Given the description of an element on the screen output the (x, y) to click on. 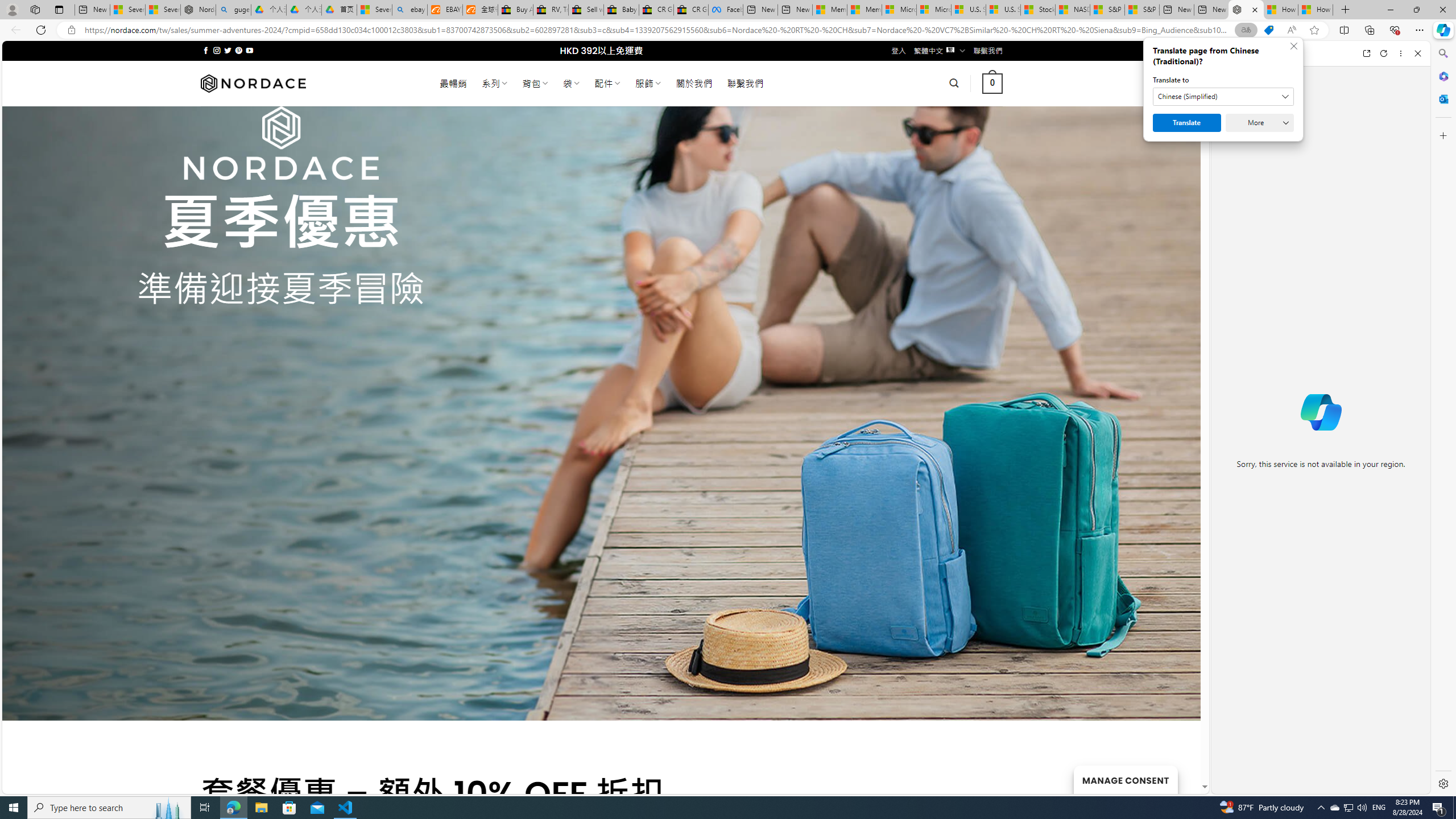
guge yunpan - Search (233, 9)
S&P 500, Nasdaq end lower, weighed by Nvidia dip | Watch (1141, 9)
Buy Auto Parts & Accessories | eBay (515, 9)
Follow on Twitter (227, 50)
Follow on Instagram (216, 50)
Follow on YouTube (249, 50)
